Given the description of an element on the screen output the (x, y) to click on. 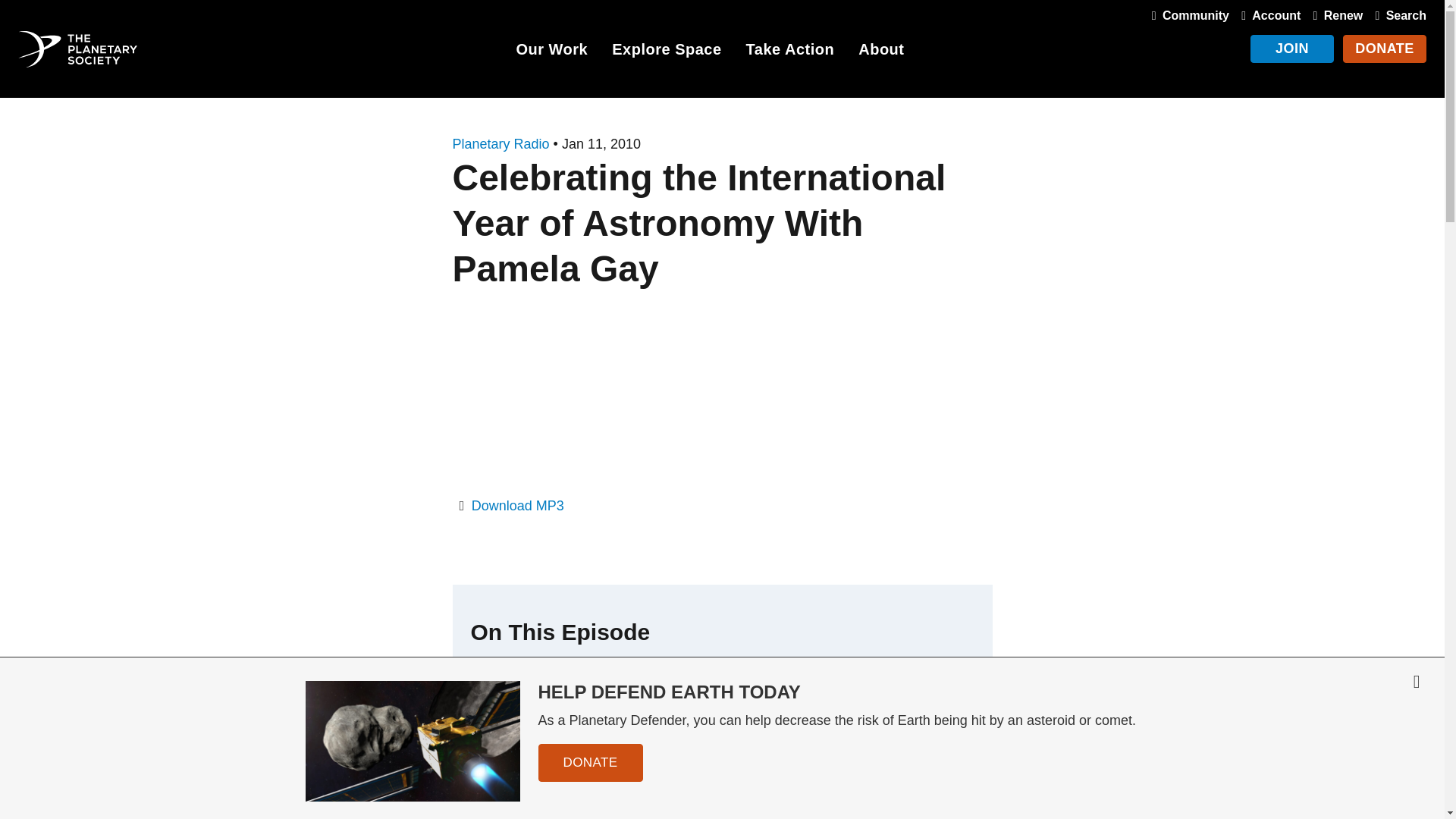
Community (1186, 15)
Our Work (551, 51)
DONATE (1384, 49)
Take Action (789, 51)
About (881, 51)
JOIN (1291, 49)
Renew (1334, 15)
Explore Space (665, 51)
Account (1267, 15)
Search (1397, 15)
